Given the description of an element on the screen output the (x, y) to click on. 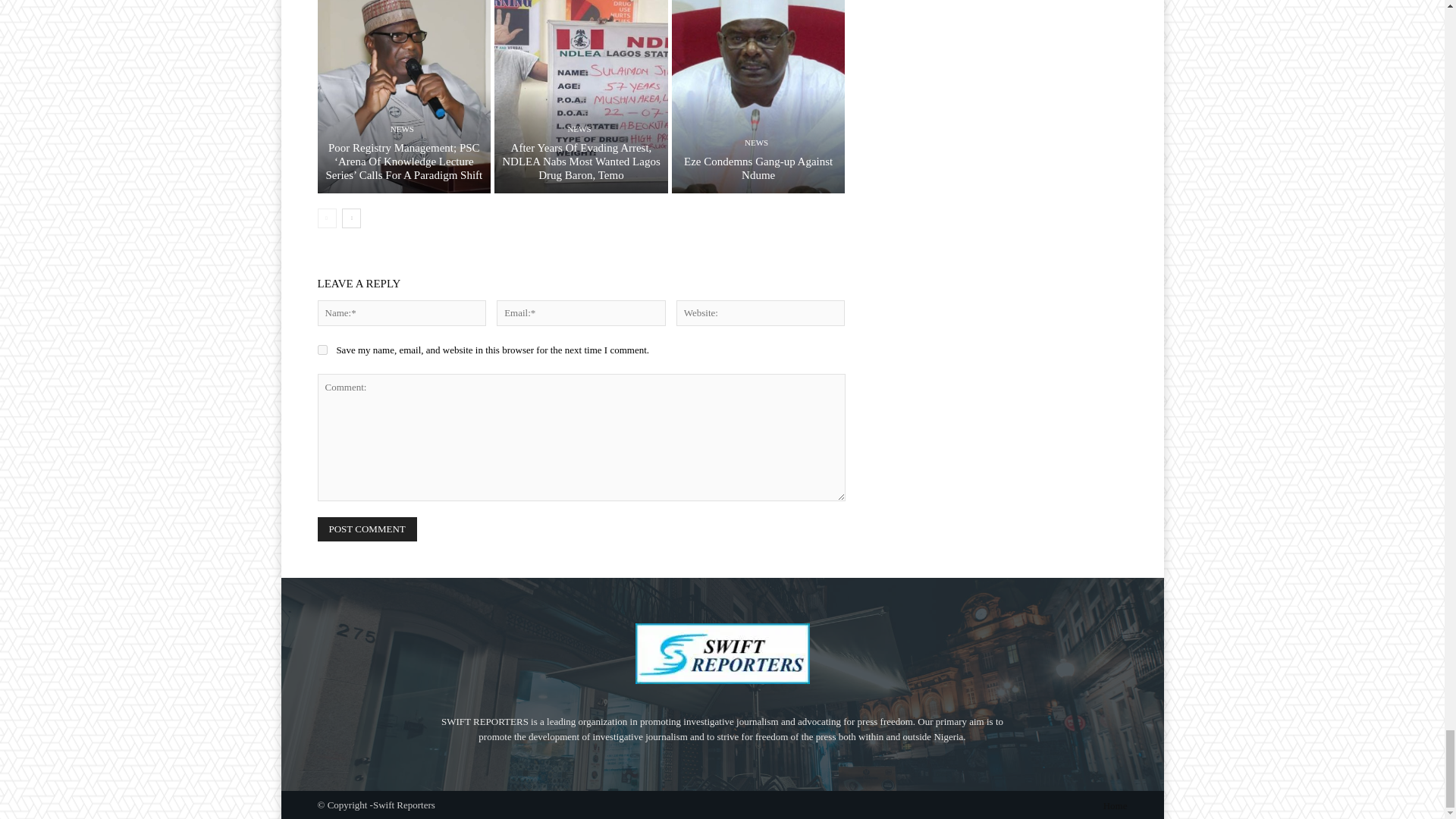
Post Comment (366, 528)
yes (321, 349)
